Given the description of an element on the screen output the (x, y) to click on. 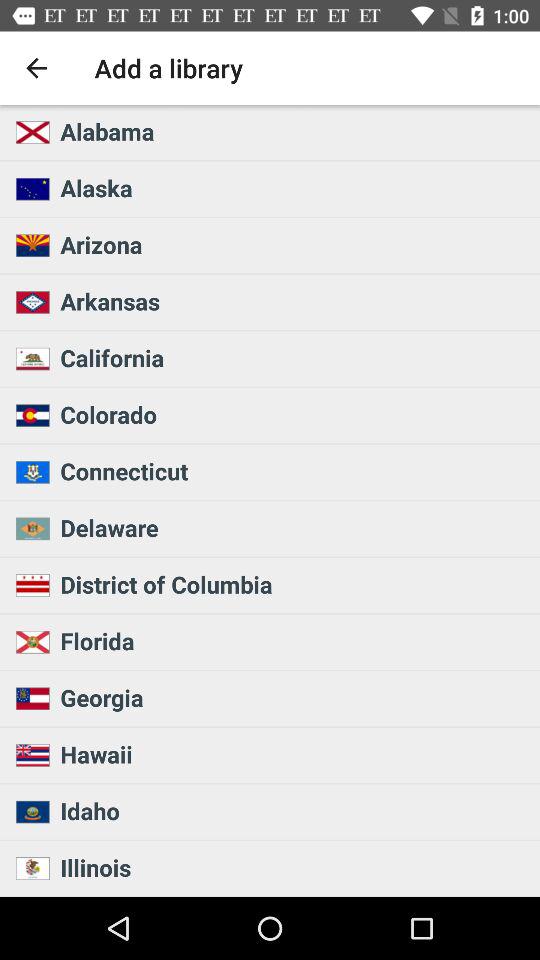
select icon above the idaho icon (294, 754)
